Given the description of an element on the screen output the (x, y) to click on. 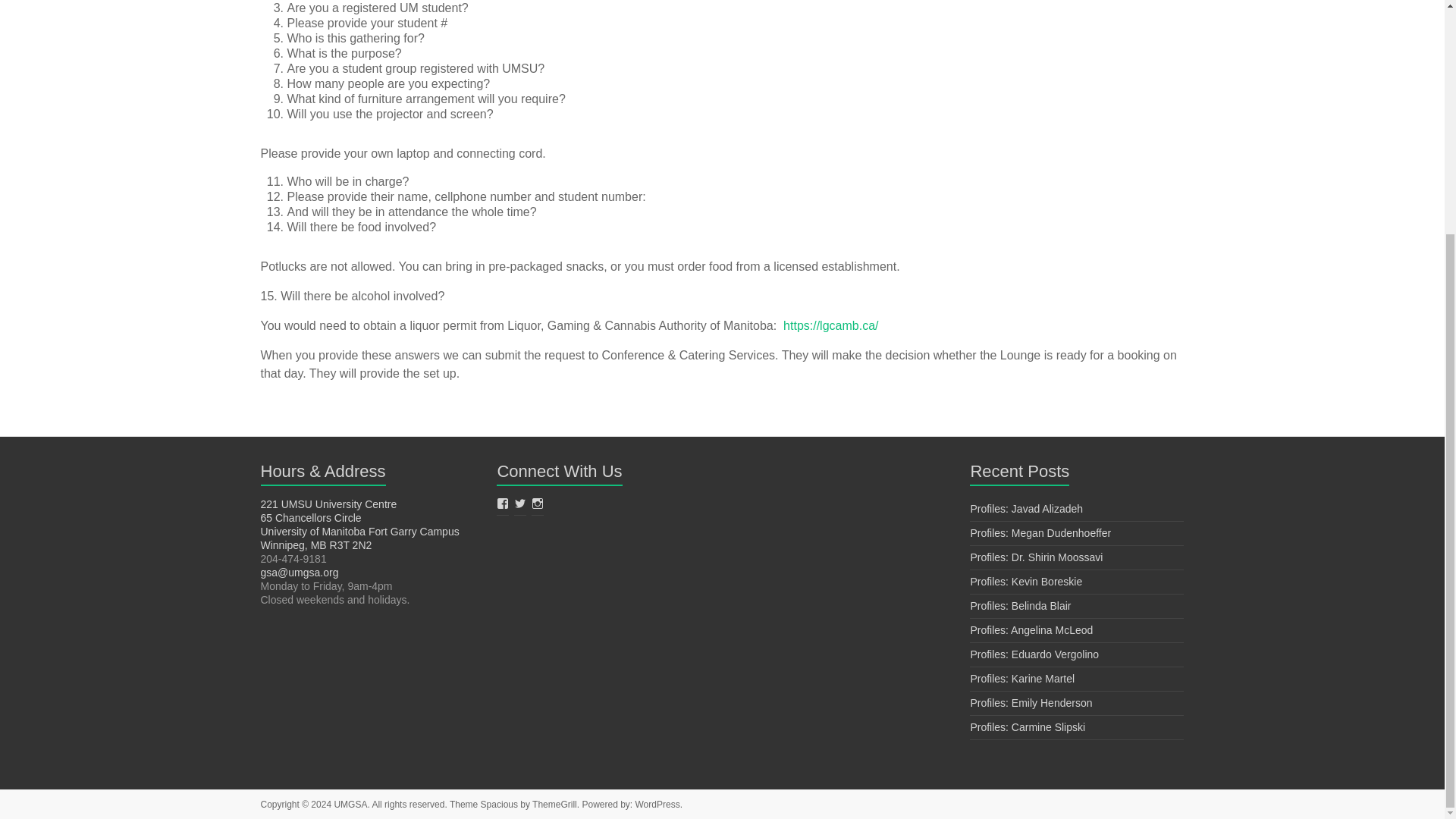
WordPress (656, 804)
Spacious (499, 804)
UMGSA (349, 804)
